Given the description of an element on the screen output the (x, y) to click on. 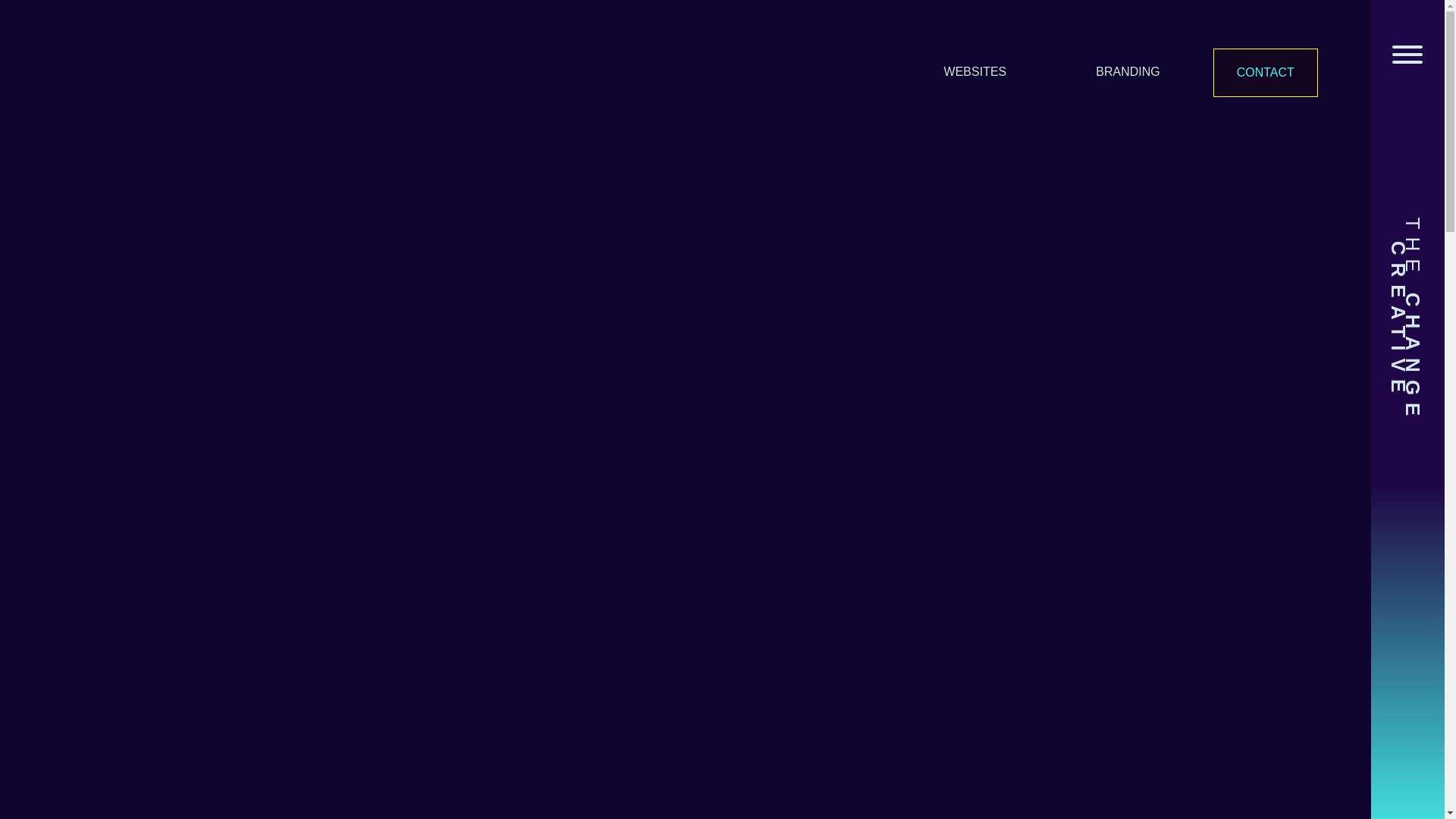
BRANDING (1127, 66)
WEBSITES (975, 66)
CONTACT (1264, 72)
The Change Creative (63, 31)
